Given the description of an element on the screen output the (x, y) to click on. 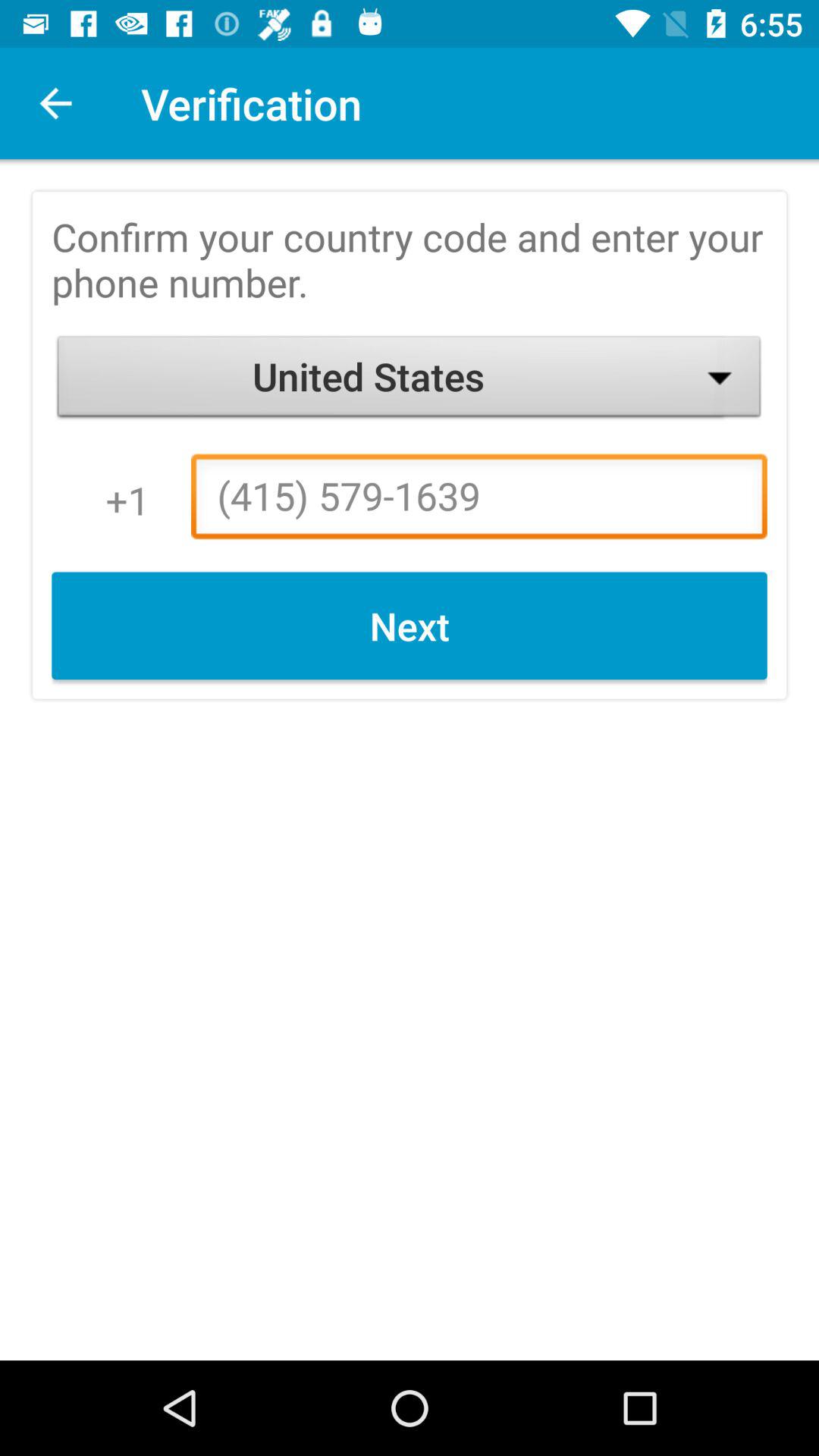
select next icon (409, 625)
